Given the description of an element on the screen output the (x, y) to click on. 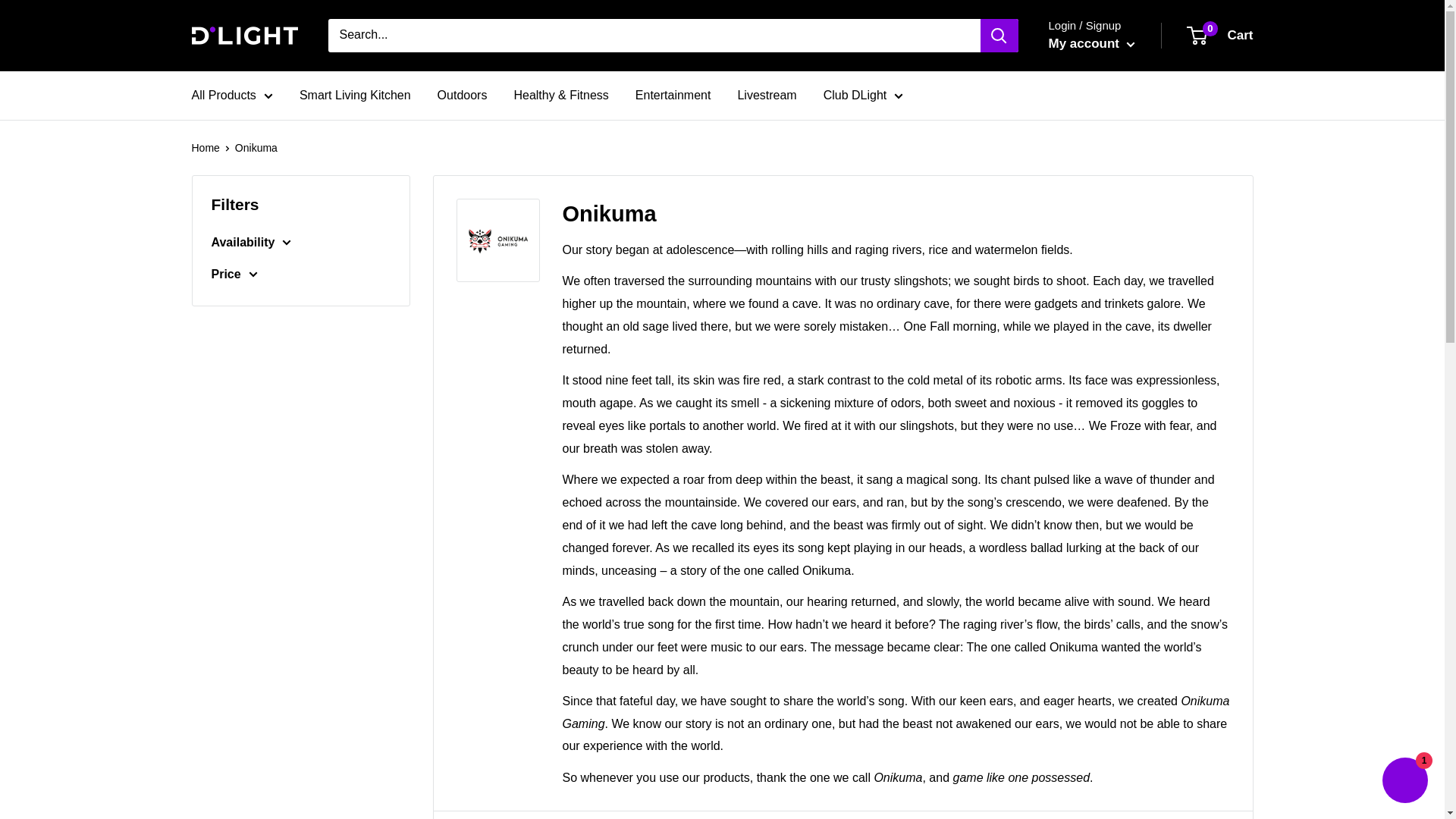
Shopify online store chat (1404, 781)
All Products (231, 95)
Livestream (766, 95)
Entertainment (672, 95)
Club DLight (864, 95)
Outdoors (462, 95)
My account (1220, 35)
Smart Living Kitchen (1091, 43)
Dlight Mall (354, 95)
